Given the description of an element on the screen output the (x, y) to click on. 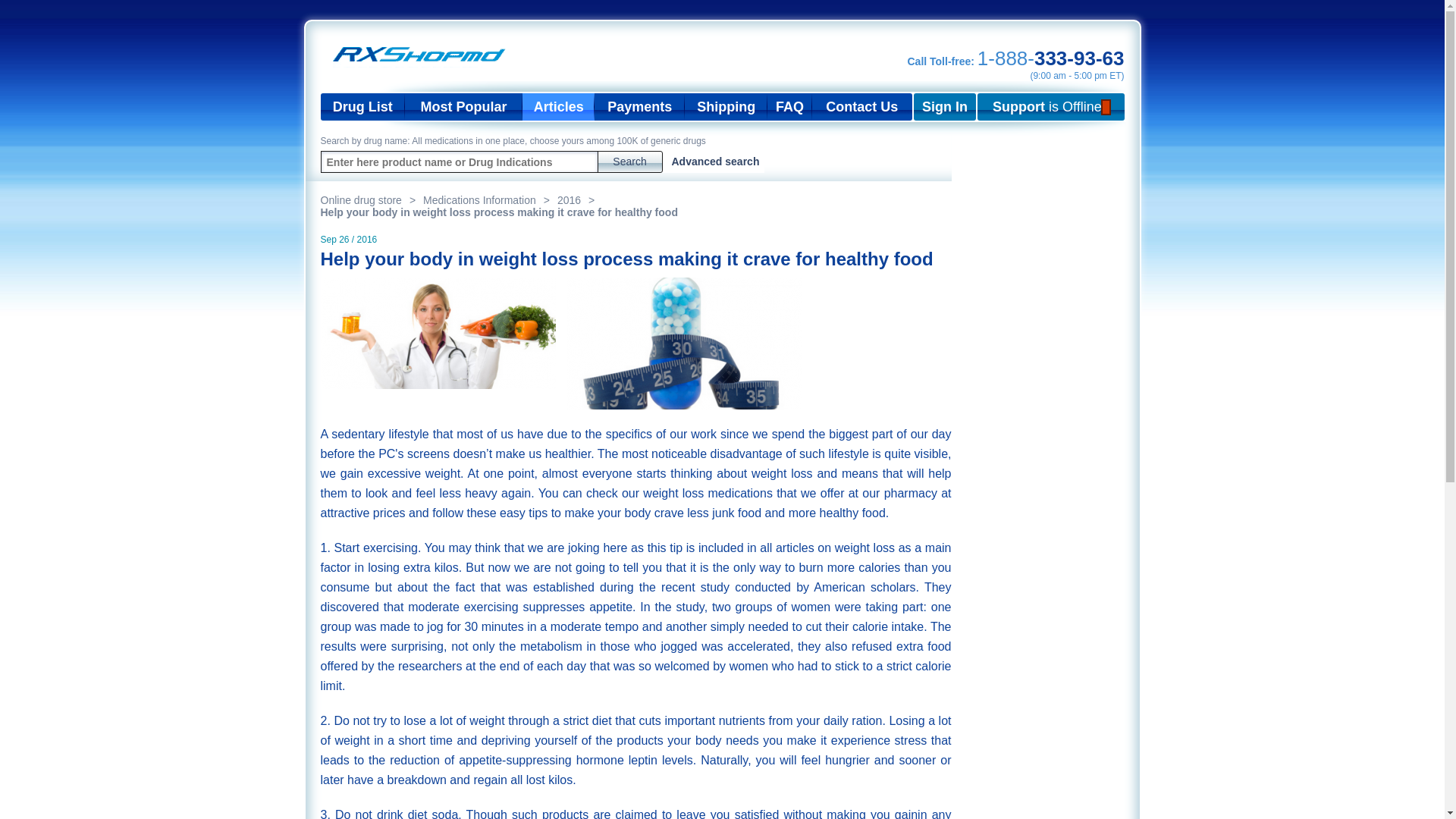
FAQ (789, 106)
2016 (579, 200)
Articles (558, 106)
Search (629, 161)
Support is Offline (1050, 106)
Drugstore online - RXShop.md (423, 55)
Medications Information (490, 200)
Contact Us (862, 106)
Drug List (362, 106)
Search (629, 161)
weight loss medications (708, 492)
Payments (639, 106)
